Given the description of an element on the screen output the (x, y) to click on. 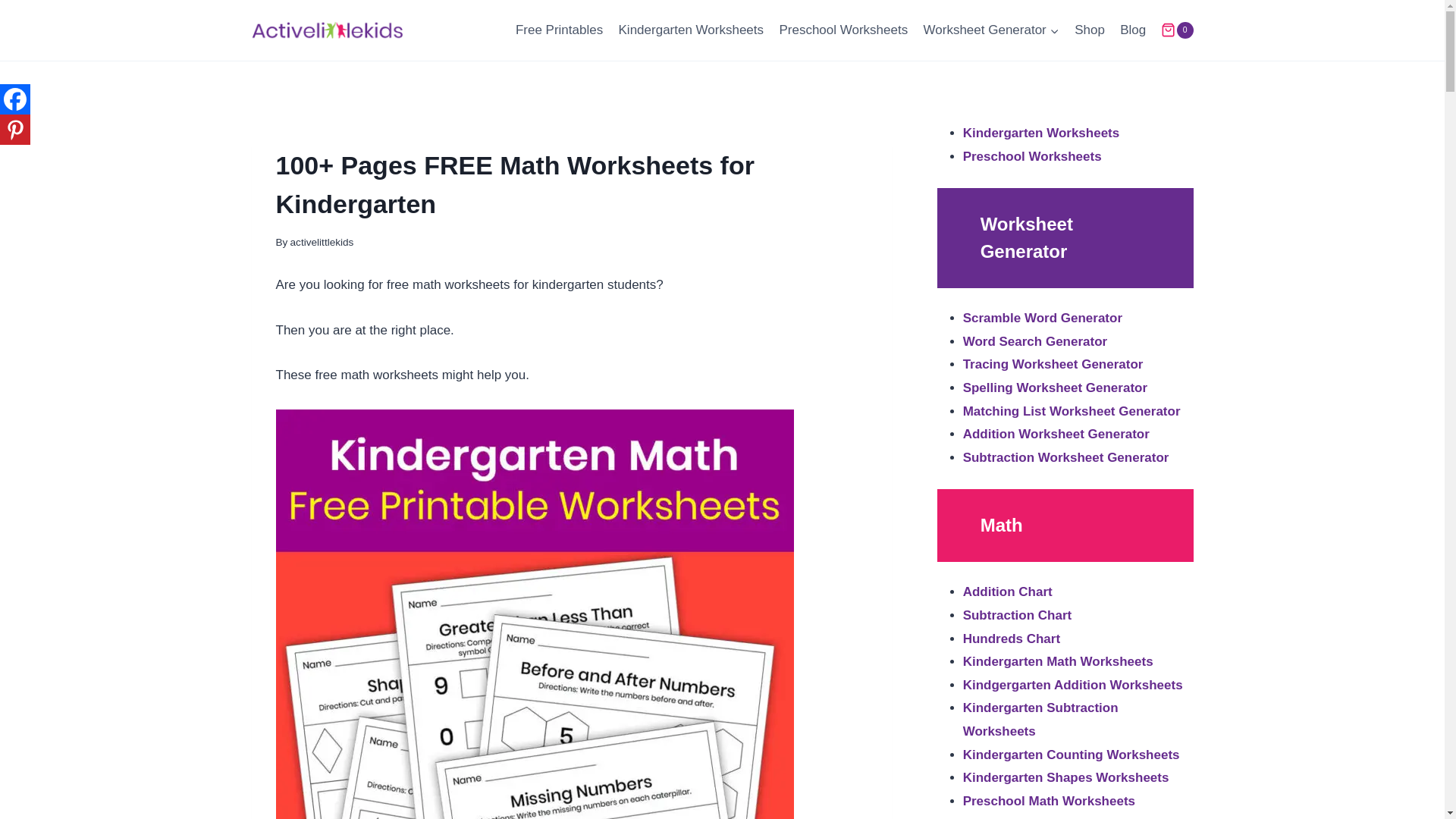
Free Printables (559, 30)
Shop (1089, 30)
Kindergarten Worksheets (690, 30)
Blog (1132, 30)
Facebook (15, 99)
Pinterest (15, 129)
Worksheet Generator (991, 30)
Preschool Worksheets (843, 30)
0 (1176, 29)
